Given the description of an element on the screen output the (x, y) to click on. 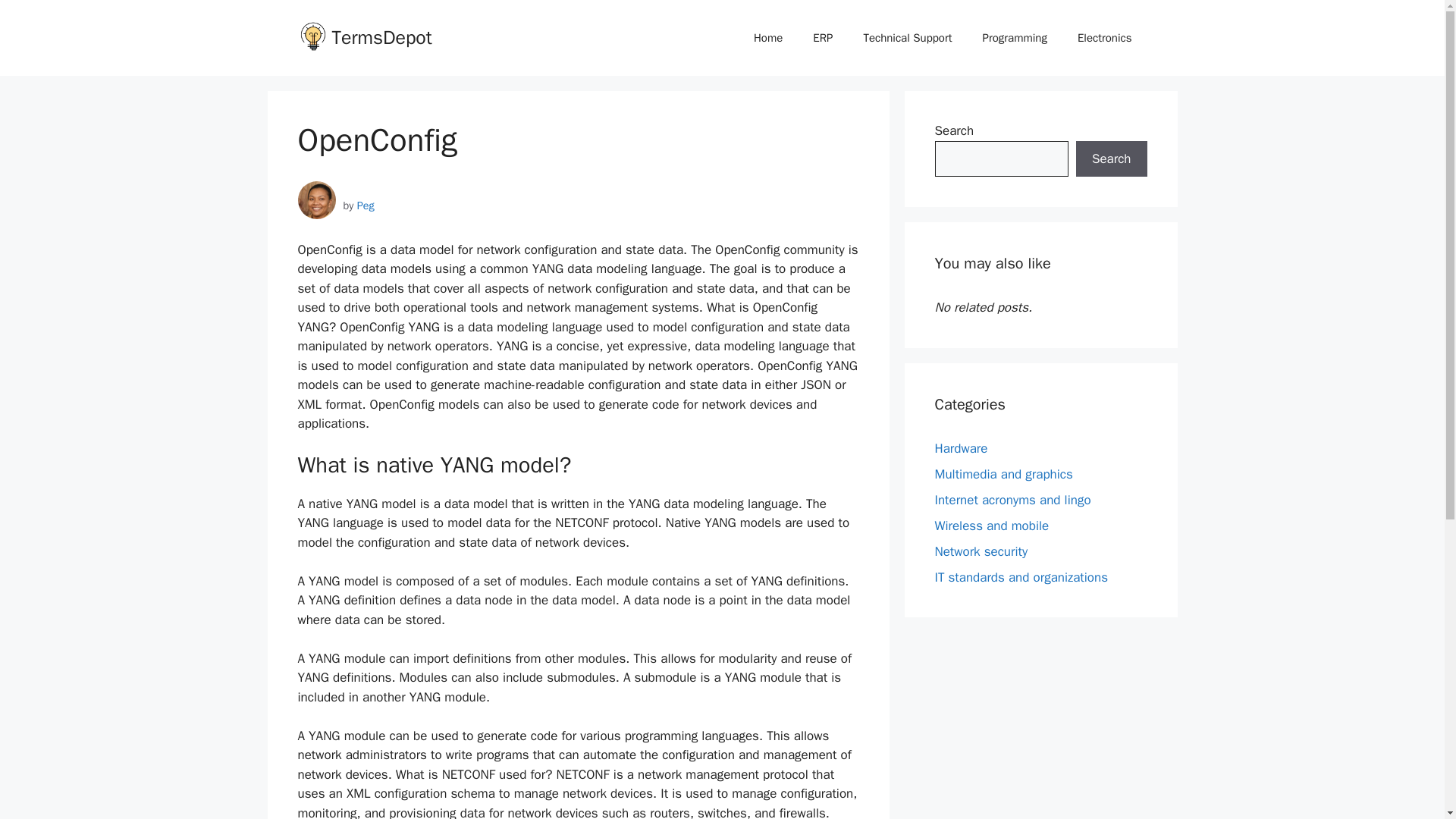
Technical Support (906, 37)
Network security (980, 550)
Internet acronyms and lingo (1012, 498)
Multimedia and graphics (1002, 473)
Programming (1015, 37)
IT standards and organizations (1021, 576)
TermsDepot (381, 37)
Wireless and mobile (991, 524)
Hardware (960, 447)
Search (1111, 158)
View all posts by Peg (365, 205)
ERP (822, 37)
Home (767, 37)
Electronics (1104, 37)
Peg (365, 205)
